Given the description of an element on the screen output the (x, y) to click on. 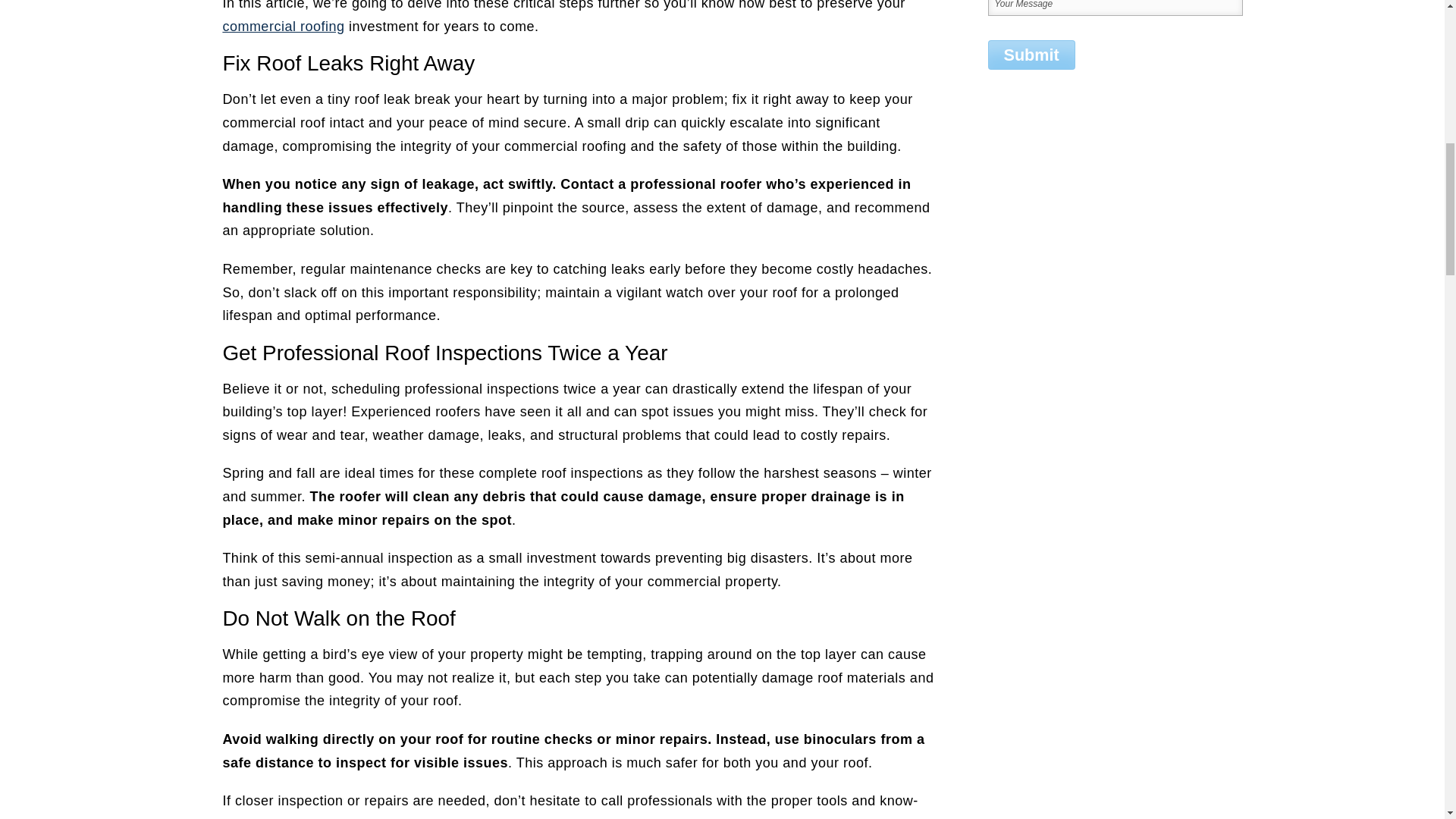
Submit (1030, 55)
commercial roofing (282, 26)
Submit (1030, 55)
